Given the description of an element on the screen output the (x, y) to click on. 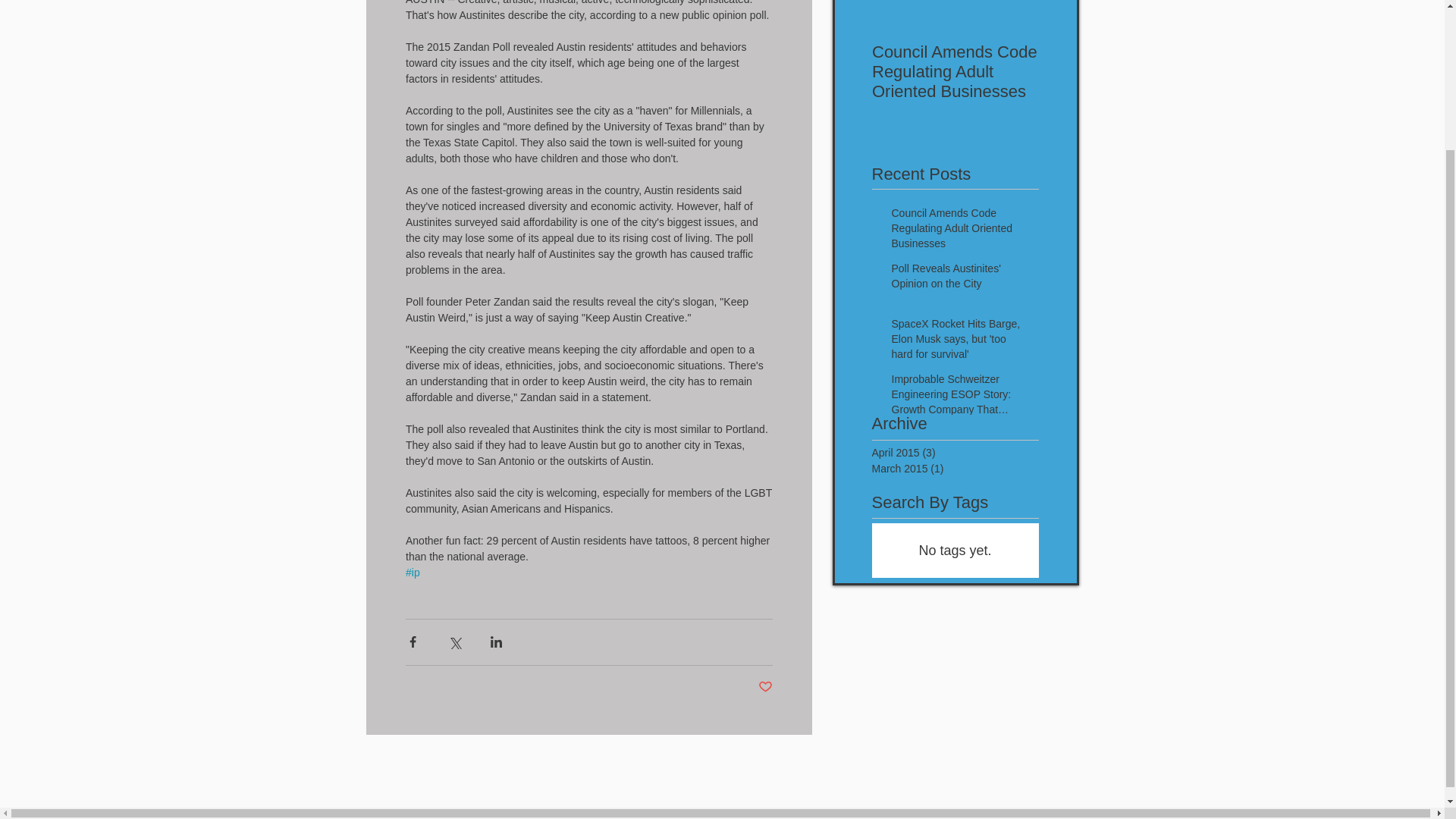
Post not marked as liked (765, 687)
Poll Reveals Austinites' Opinion on the City (1122, 71)
Council Amends Code Regulating Adult Oriented Businesses (960, 231)
Poll Reveals Austinites' Opinion on the City (960, 279)
Council Amends Code Regulating Adult Oriented Businesses (955, 71)
